Given the description of an element on the screen output the (x, y) to click on. 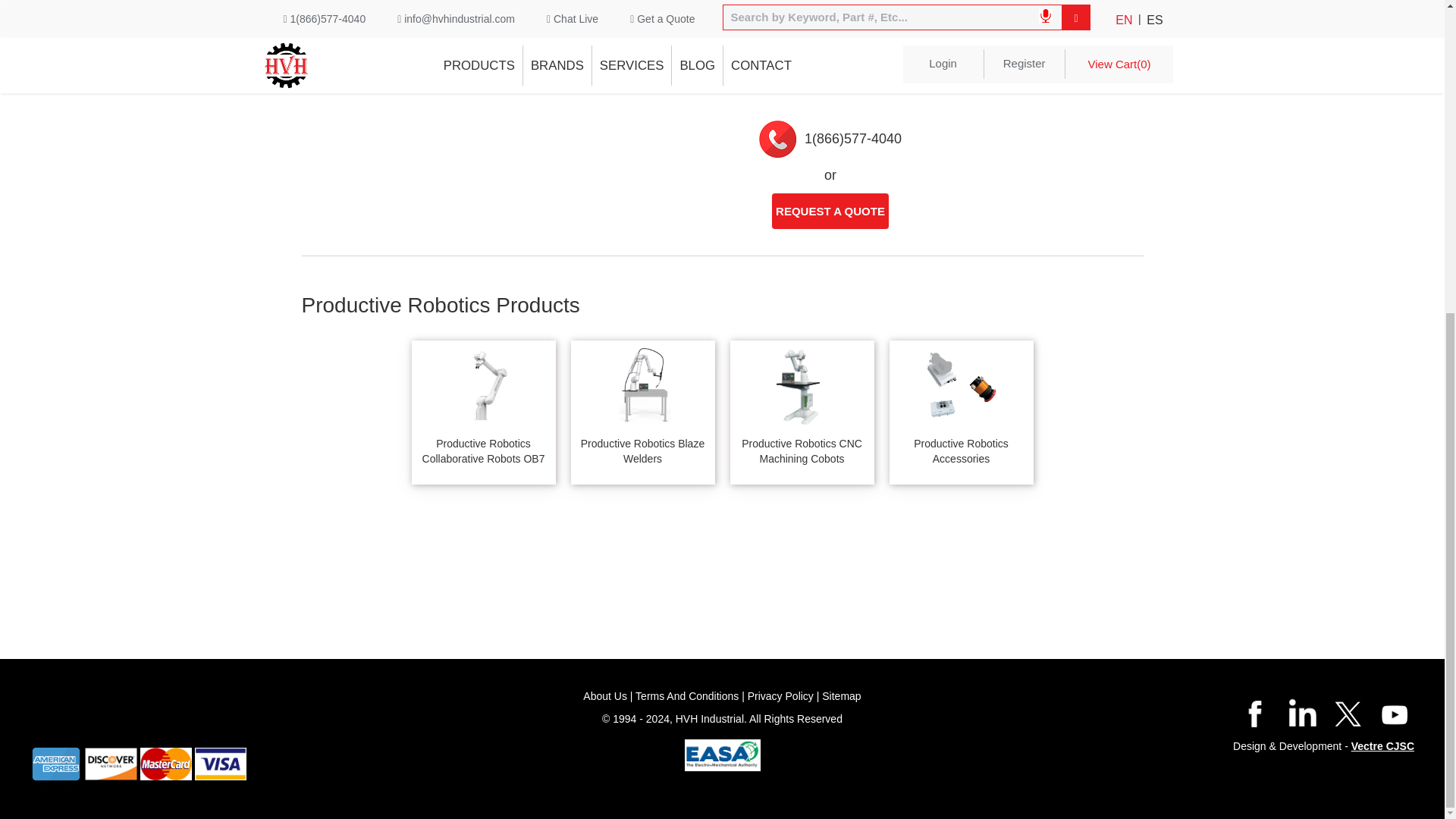
Productive Robotics Collaborative Robots OB7 (483, 423)
Productive Robotics Accessories Catalog (640, 22)
REQUEST A QUOTE (829, 211)
